Given the description of an element on the screen output the (x, y) to click on. 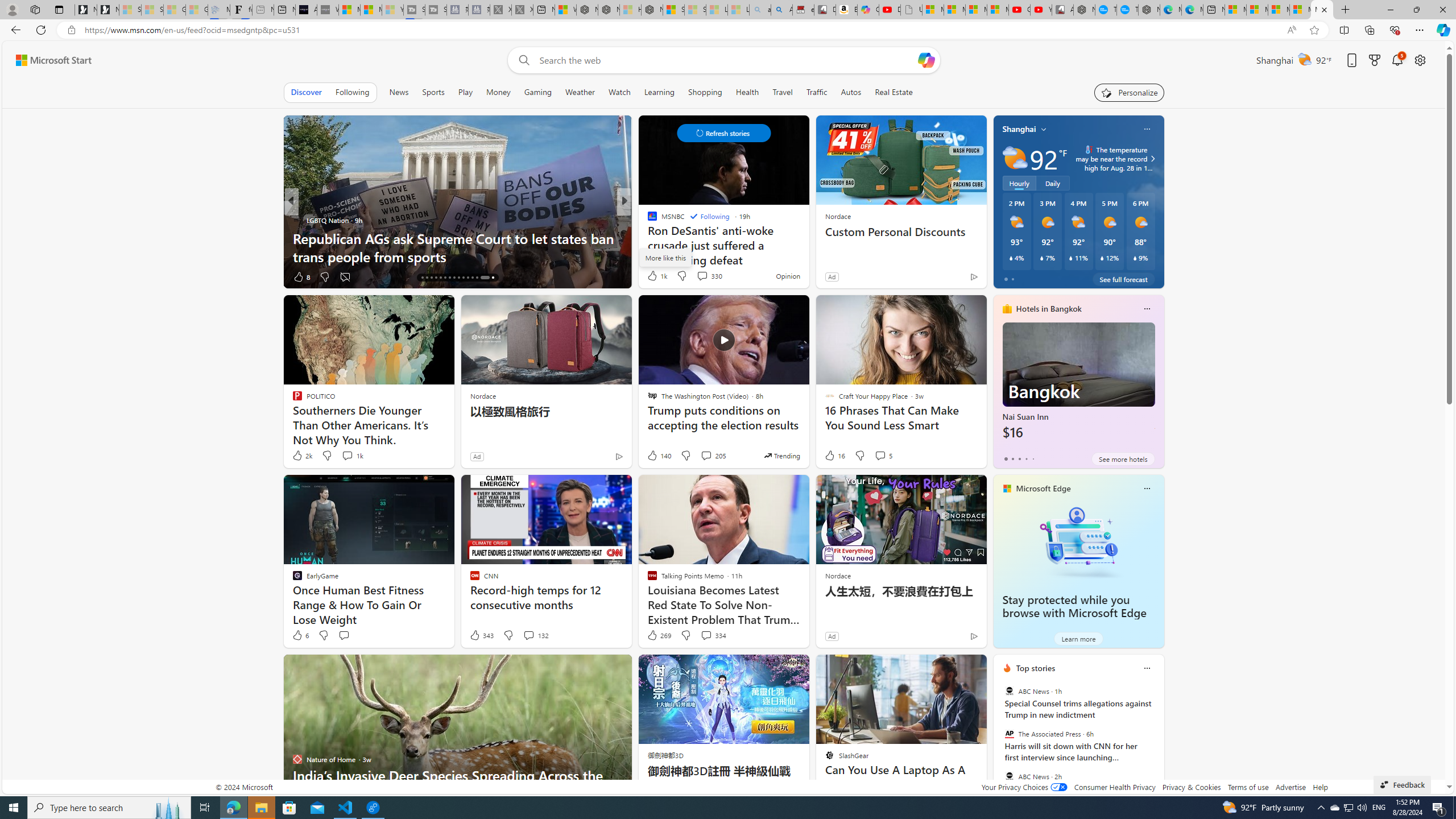
Microsoft Edge (1043, 488)
View comments 330 Comment (708, 275)
Nordace - Nordace Siena Is Not An Ordinary Backpack (652, 9)
AutomationID: tab-17 (426, 277)
Personalize your feed" (1129, 92)
Custom Personal Discounts (900, 232)
View comments 213 Comment (6, 276)
AutomationID: tab-26 (467, 277)
